Given the description of an element on the screen output the (x, y) to click on. 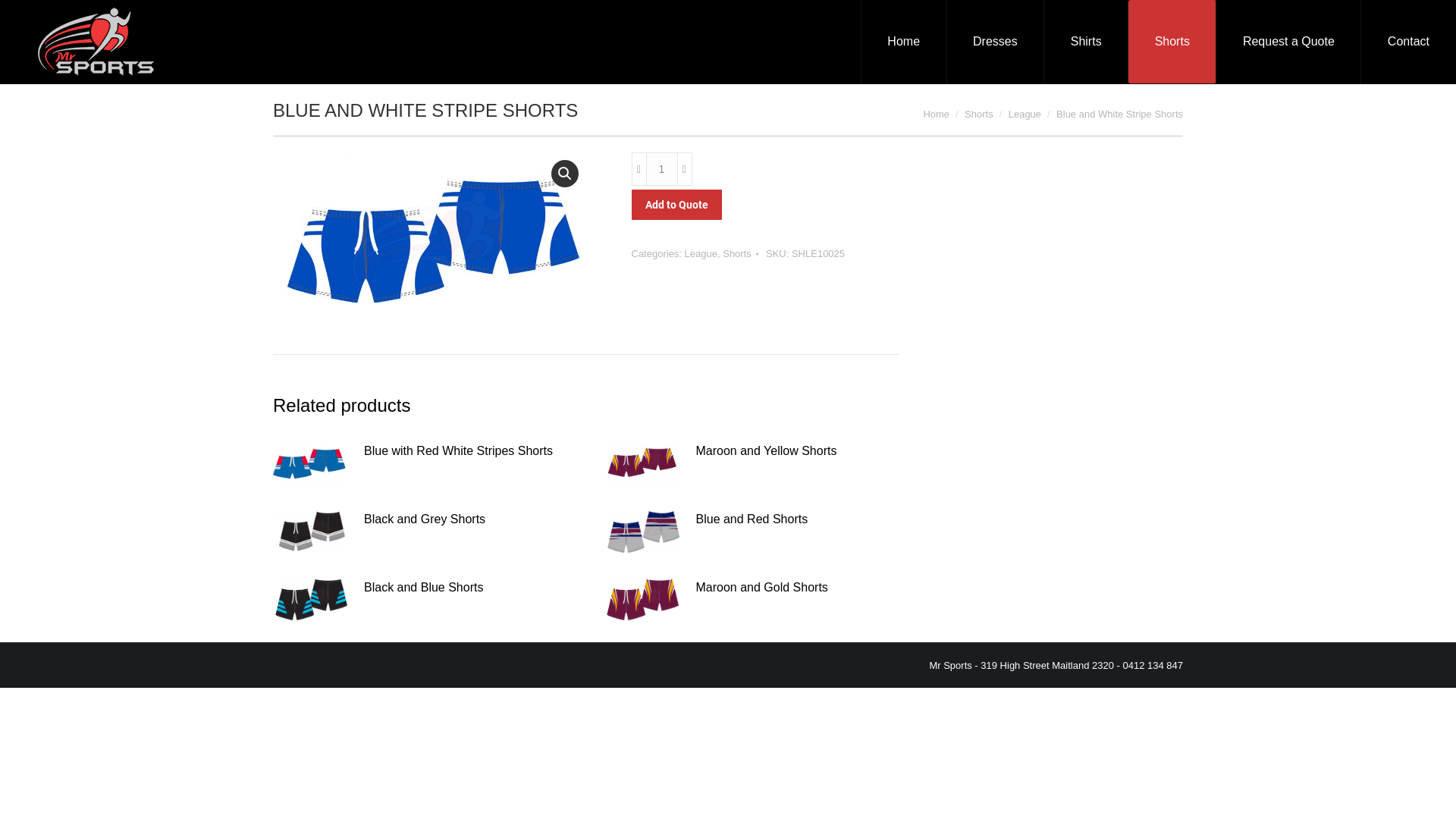
League Element type: text (700, 253)
Blue and Red Shorts Element type: text (752, 519)
League Element type: text (1024, 113)
Black and Blue Shorts Element type: text (423, 587)
Maroon and Gold Shorts Element type: text (762, 587)
Shorts Element type: text (736, 253)
Home Element type: text (903, 41)
Shorts Element type: text (978, 113)
Add to Quote Element type: text (675, 204)
Dresses Element type: text (995, 41)
Maroon and Yellow Shorts Element type: text (766, 451)
SHLE10025 Element type: hover (429, 241)
Shirts Element type: text (1086, 41)
Shorts Element type: text (1172, 41)
Home Element type: text (935, 113)
Blue with Red White Stripes Shorts Element type: text (458, 451)
Black and Grey Shorts Element type: text (424, 519)
Request a Quote Element type: text (1288, 41)
